Given the description of an element on the screen output the (x, y) to click on. 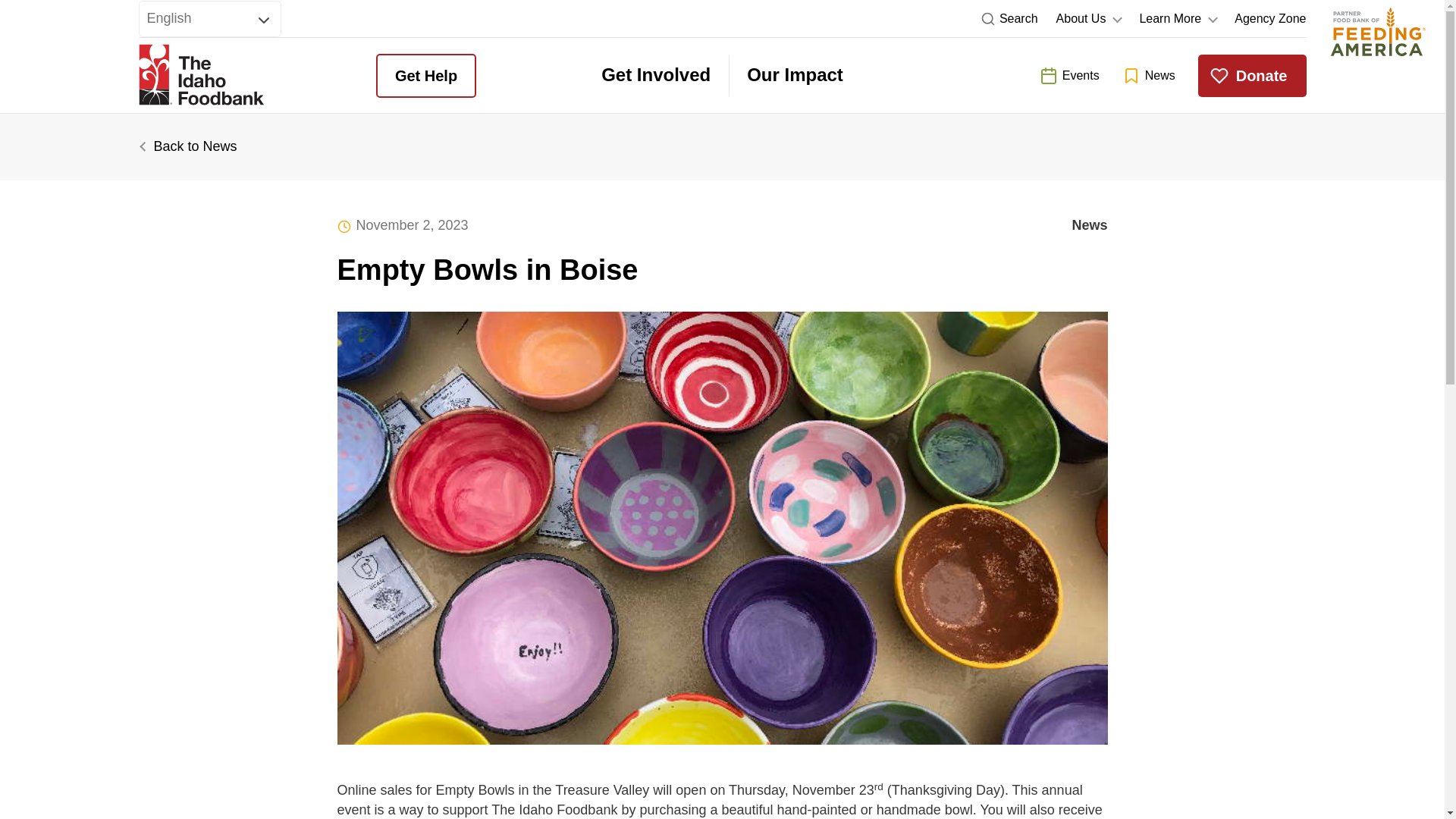
About Us (1089, 18)
Our Impact (794, 75)
Search (1008, 18)
Agency Zone (1270, 18)
Get Involved (655, 75)
Go to Home page (200, 75)
Learn More (1176, 18)
Get Help (425, 75)
